Given the description of an element on the screen output the (x, y) to click on. 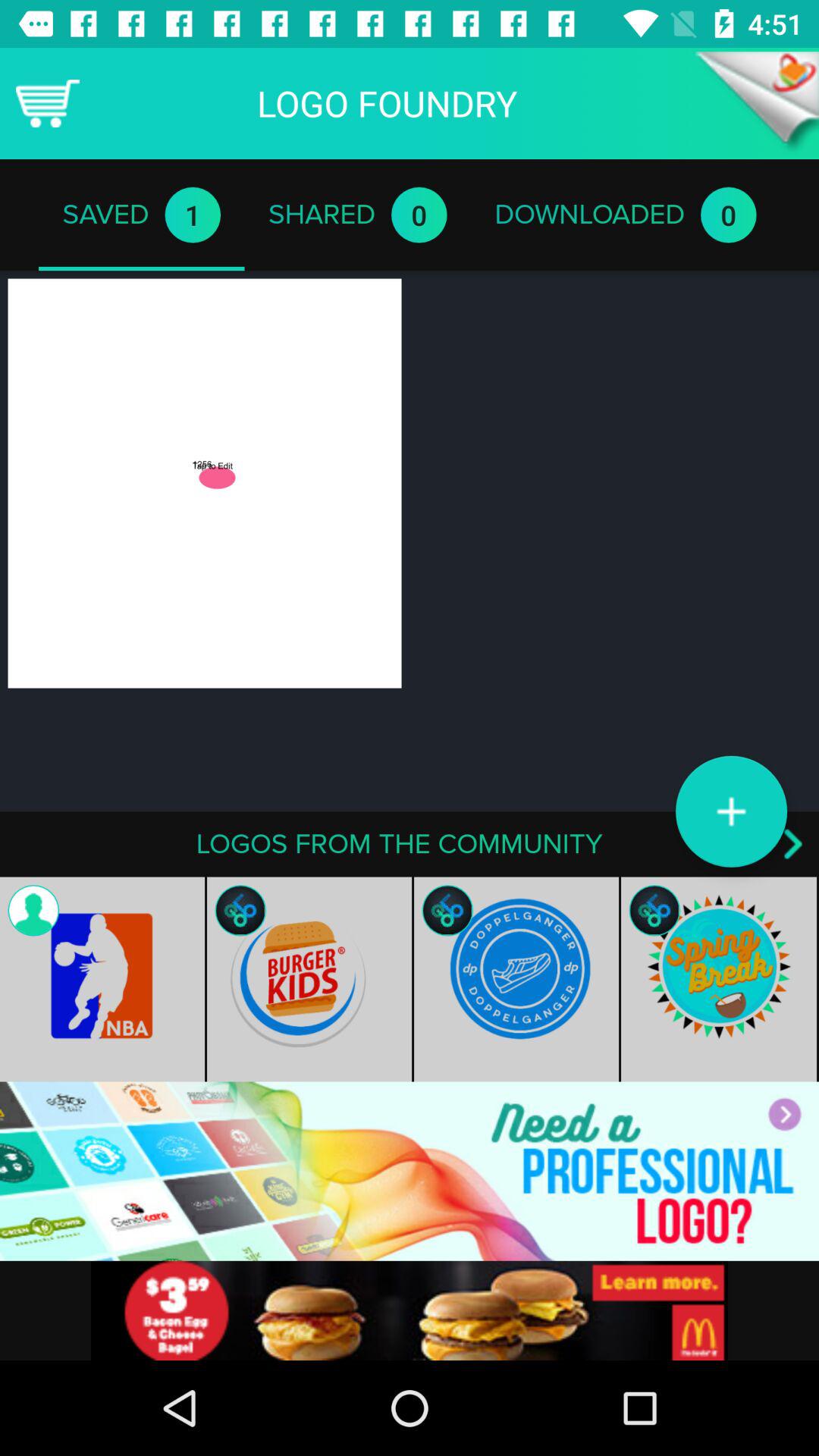
advertisement (409, 1170)
